Given the description of an element on the screen output the (x, y) to click on. 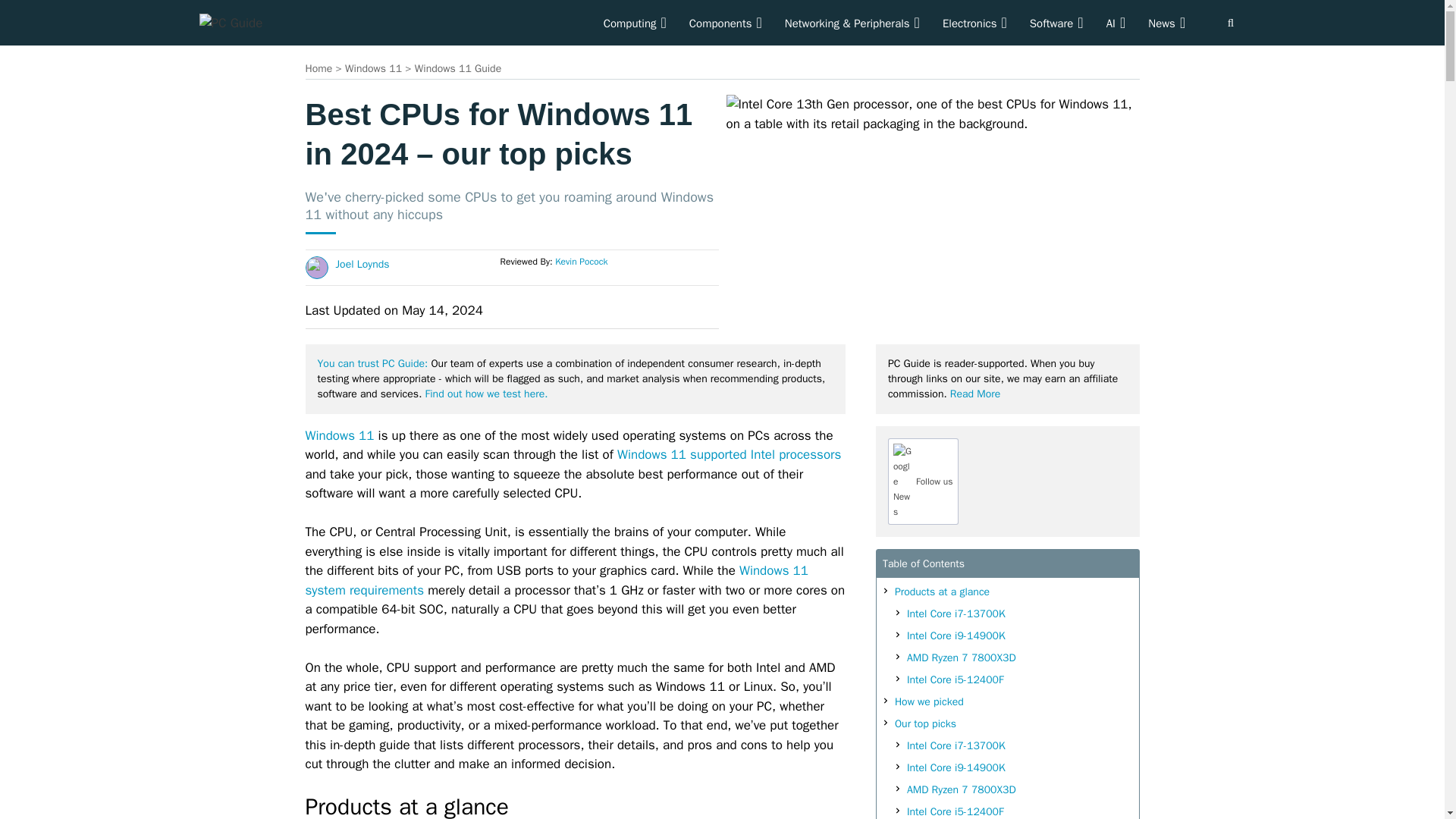
PC Guide (230, 23)
PC Guide (230, 22)
Computing (635, 22)
